Given the description of an element on the screen output the (x, y) to click on. 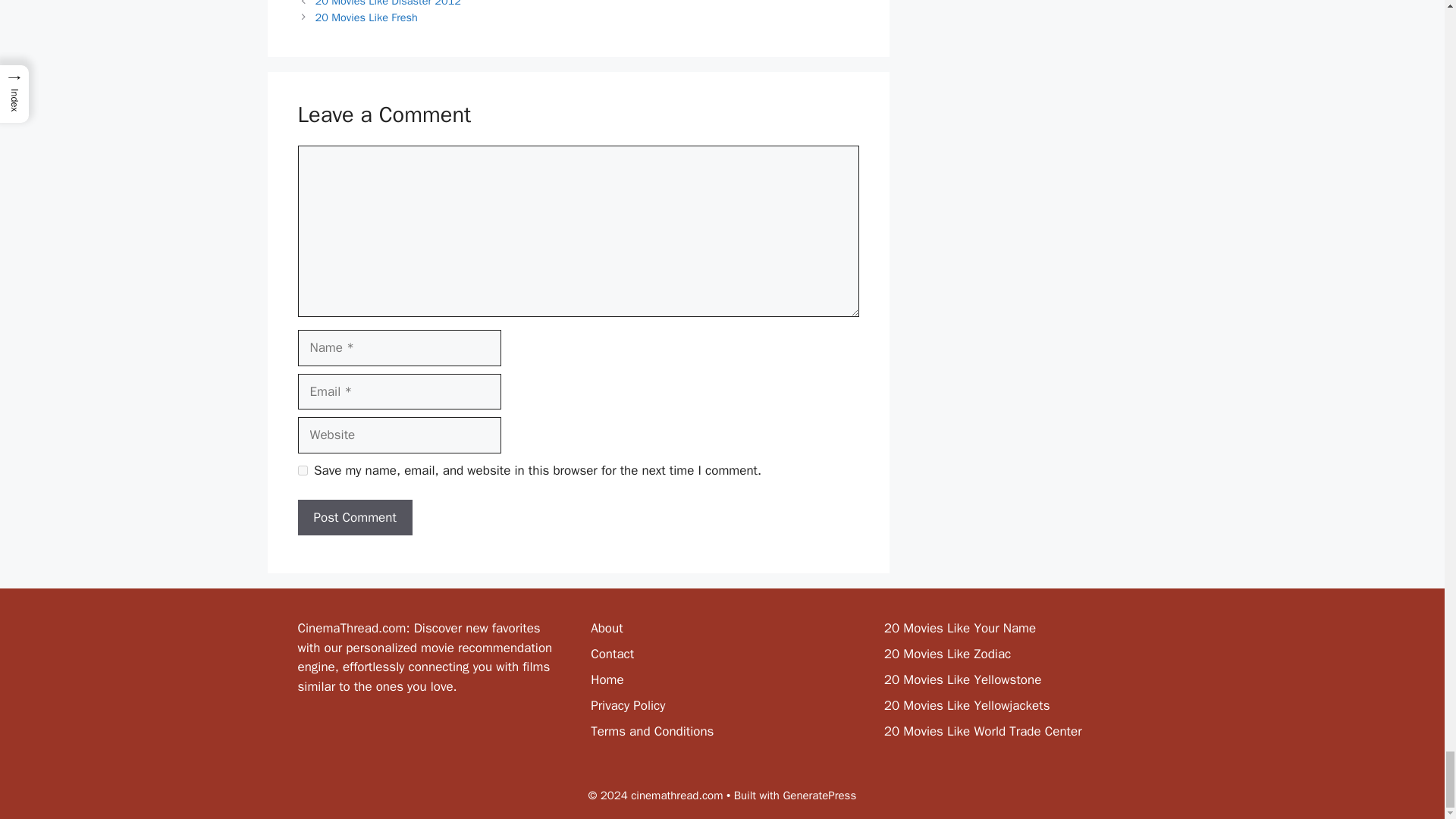
Post Comment (354, 517)
yes (302, 470)
